Given the description of an element on the screen output the (x, y) to click on. 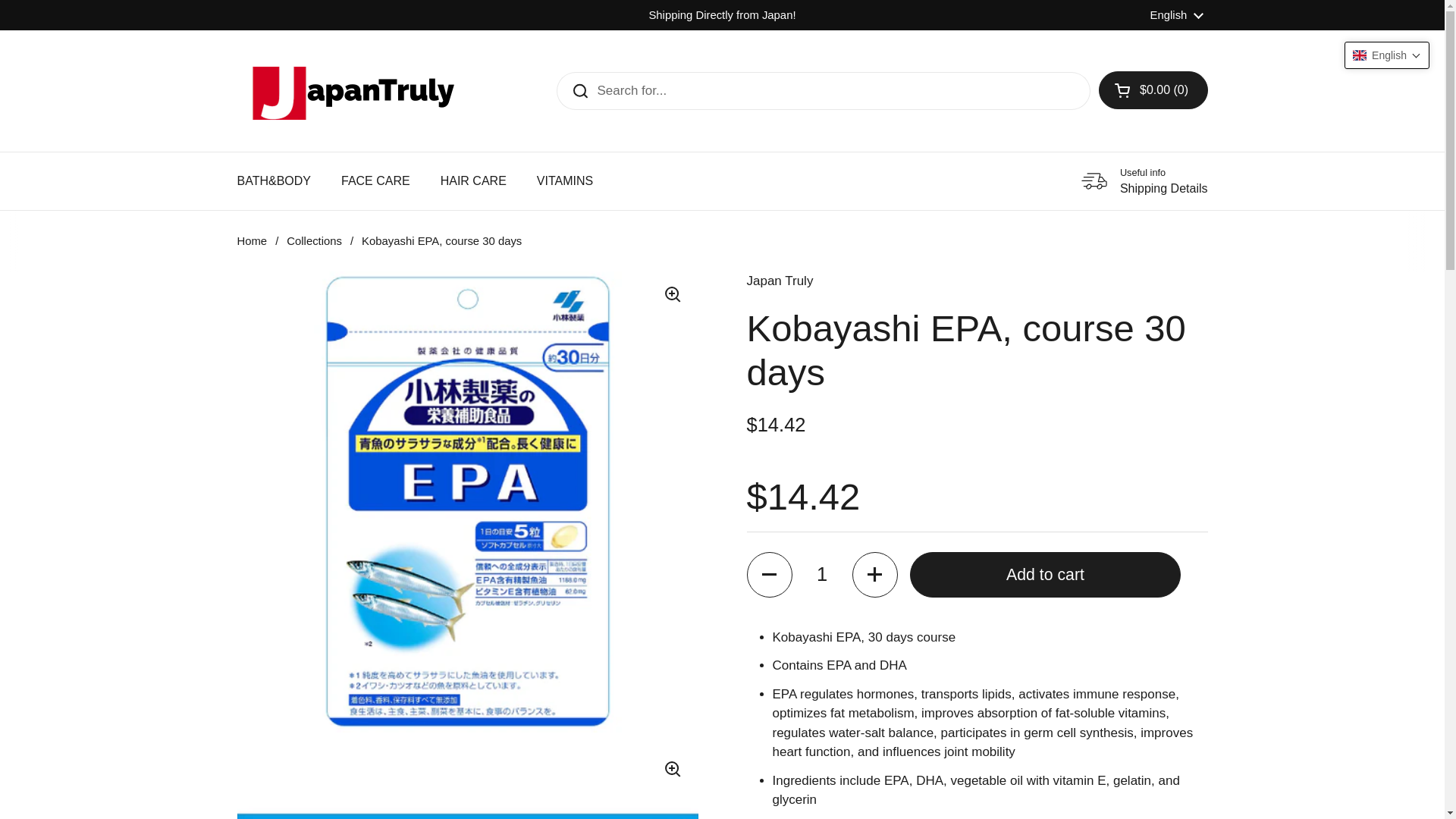
Home (250, 241)
Add to cart (1045, 574)
1 (821, 574)
Japan Truly (778, 281)
English (1177, 14)
FACE CARE (375, 181)
Collections (314, 241)
HAIR CARE (473, 181)
Open cart (1153, 89)
